Given the description of an element on the screen output the (x, y) to click on. 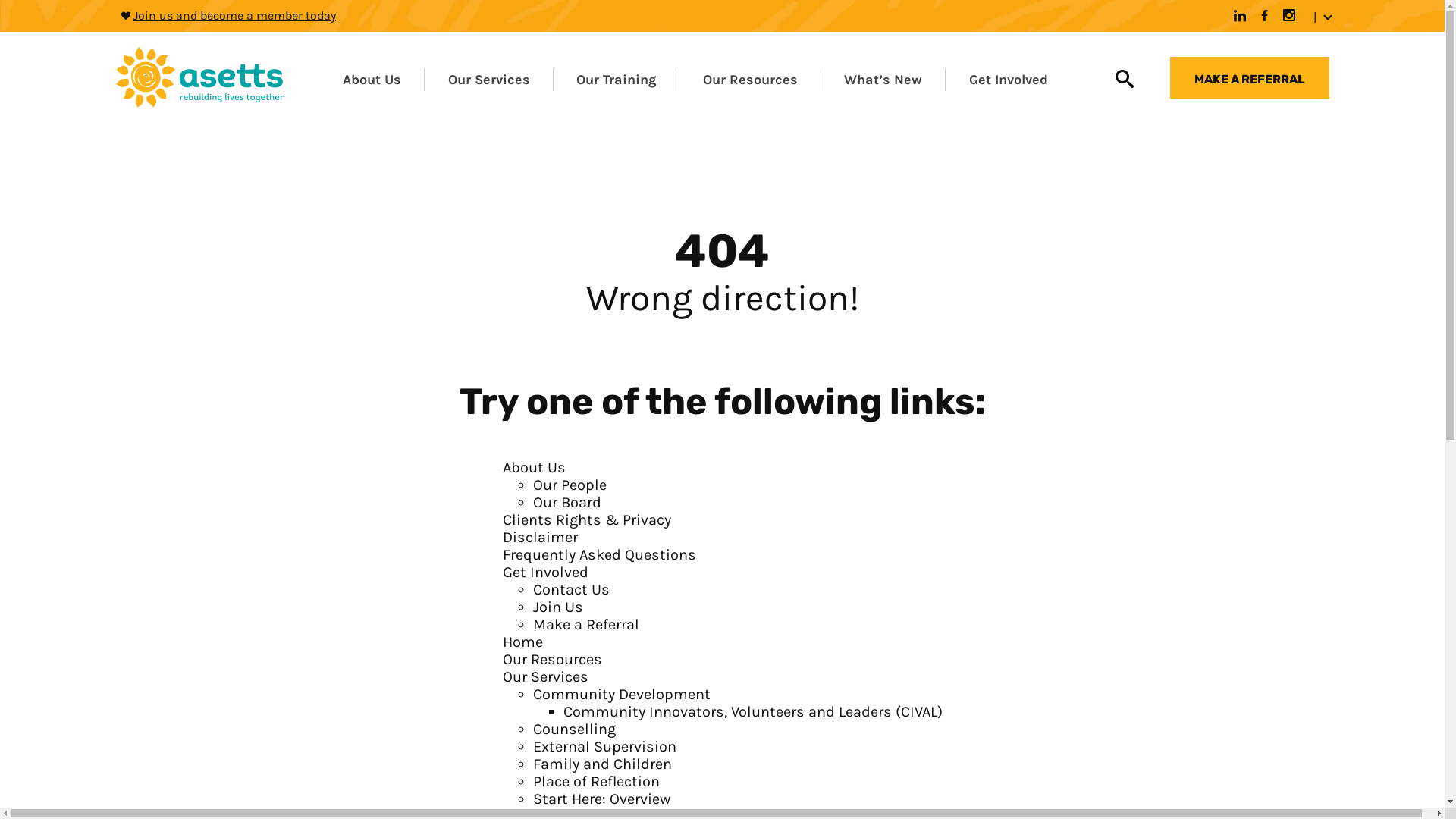
Our Board Element type: text (566, 502)
Disclaimer Element type: text (539, 537)
Start Here: Overview Element type: text (600, 799)
Our Resources Element type: text (749, 81)
Place of Reflection Element type: text (595, 781)
Get Involved Element type: text (1013, 81)
About Us Element type: text (533, 467)
Contact Us Element type: text (570, 589)
Get Involved Element type: text (544, 572)
Our Services Element type: text (544, 677)
MAKE A REFERRAL Element type: text (1248, 77)
Join us and become a member today Element type: text (234, 15)
Make a Referral Element type: text (585, 624)
About Us Element type: text (376, 81)
Community Innovators, Volunteers and Leaders (CIVAL) Element type: text (751, 711)
Family and Children Element type: text (601, 764)
Our Training Element type: text (620, 81)
External Supervision Element type: text (603, 746)
Our People Element type: text (568, 485)
Community Development Element type: text (620, 694)
Clients Rights & Privacy Element type: text (586, 520)
Home Element type: text (522, 642)
Counselling Element type: text (573, 729)
Our Services Element type: text (493, 81)
Frequently Asked Questions Element type: text (598, 555)
Our Resources Element type: text (551, 659)
Join Us Element type: text (557, 607)
